Given the description of an element on the screen output the (x, y) to click on. 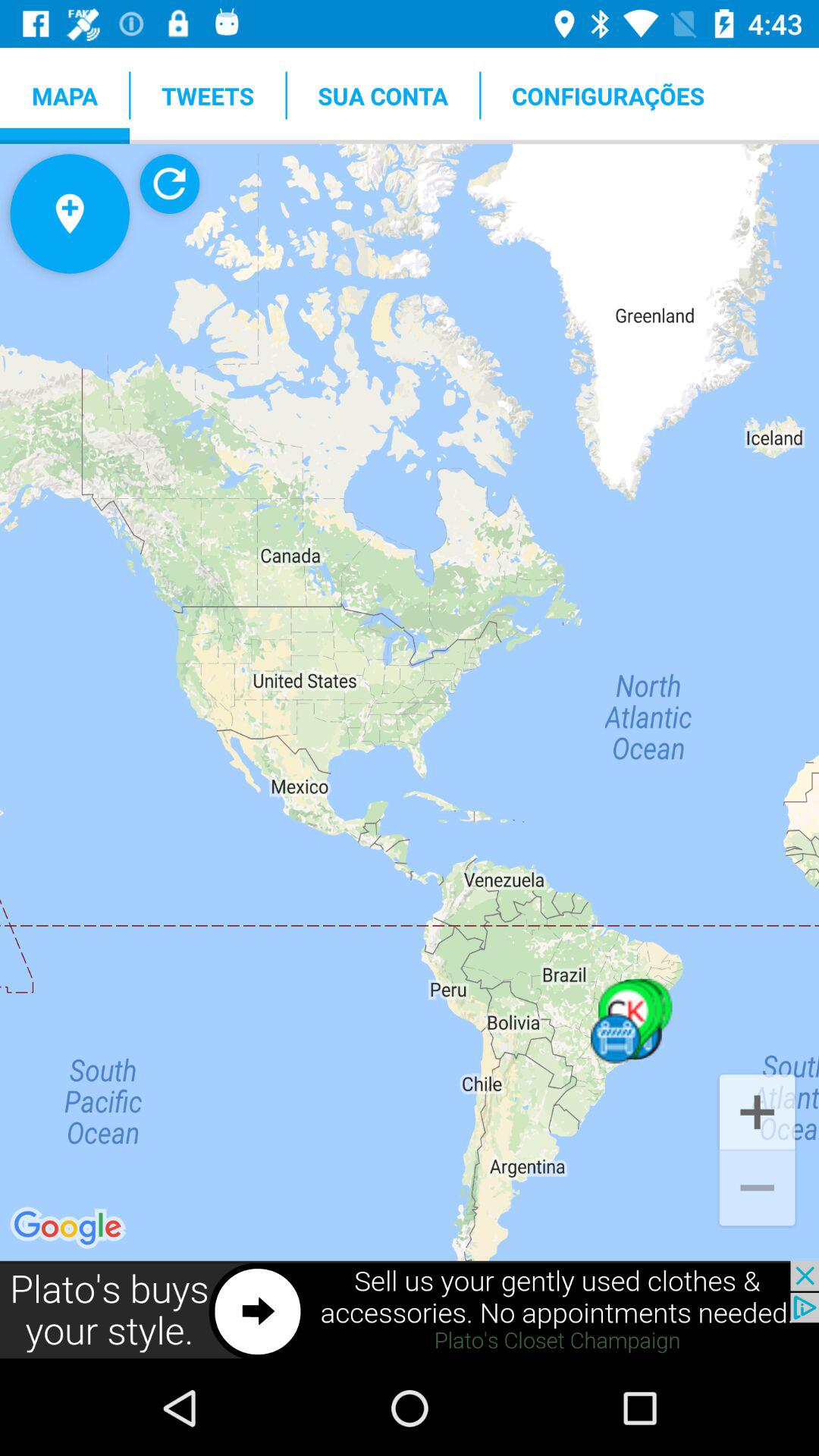
visit plato 's closte website (409, 1310)
